Given the description of an element on the screen output the (x, y) to click on. 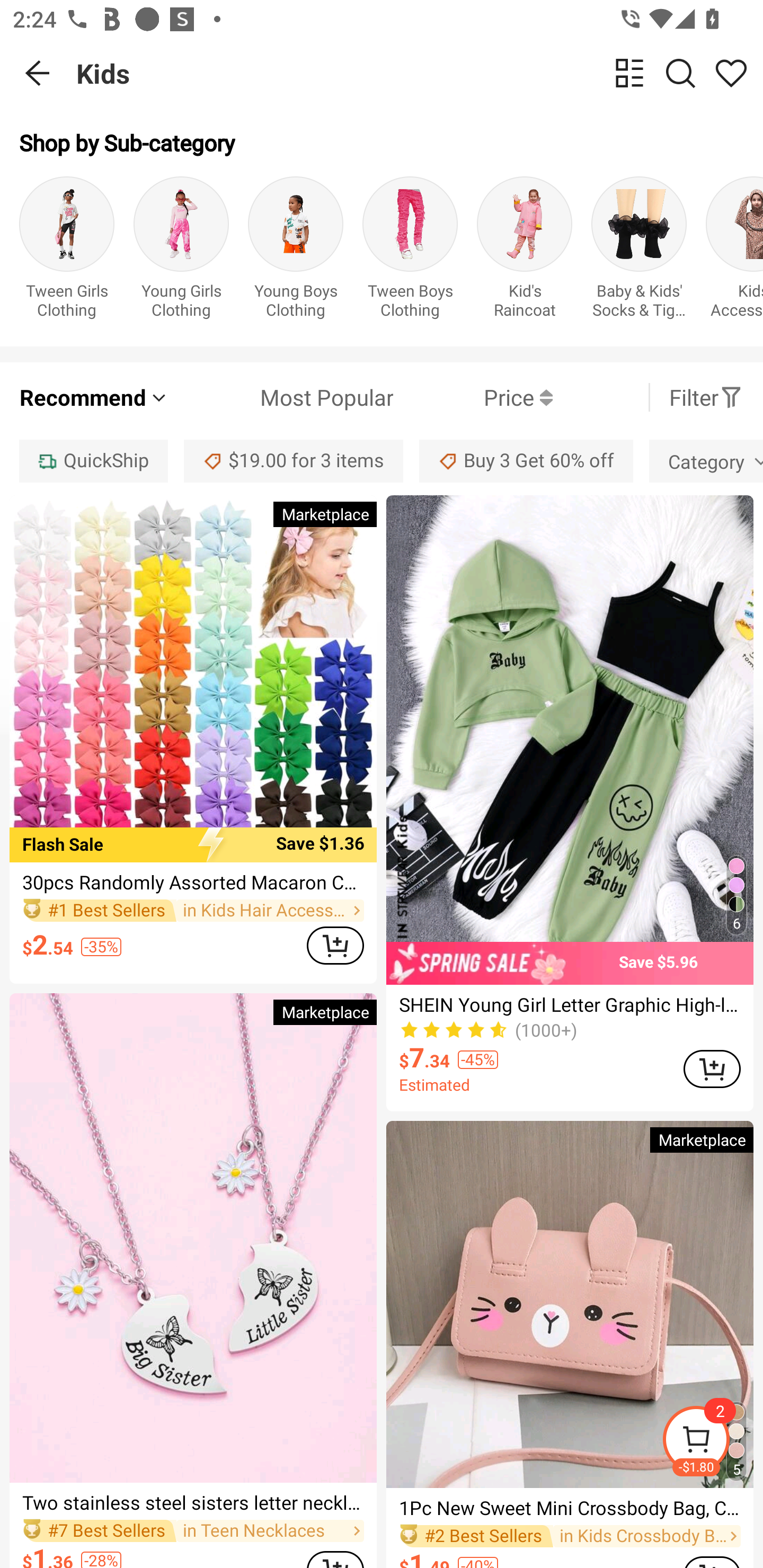
Kids change view Search Share (419, 72)
change view (629, 72)
Search (679, 72)
Share (730, 72)
Tween Girls Clothing (66, 251)
Young Girls Clothing (180, 251)
Young Boys Clothing (295, 251)
Tween Boys Clothing (409, 251)
Kid's Raincoat (524, 251)
Baby & Kids' Socks & Tights (638, 251)
Kids Accessories (734, 251)
Recommend (94, 397)
Most Popular (280, 397)
Price (472, 397)
Filter (705, 397)
QuickShip (93, 460)
$19.00 for 3 items (292, 460)
Buy 3 Get 60% off (525, 460)
Category (706, 460)
#1 Best Sellers in Kids Hair Accessories (192, 910)
ADD TO CART (334, 945)
ADD TO CART (711, 1069)
-$1.80 (712, 1441)
#7 Best Sellers in Teen Necklaces (192, 1529)
#2 Best Sellers in Kids Crossbody Bags (569, 1536)
